Given the description of an element on the screen output the (x, y) to click on. 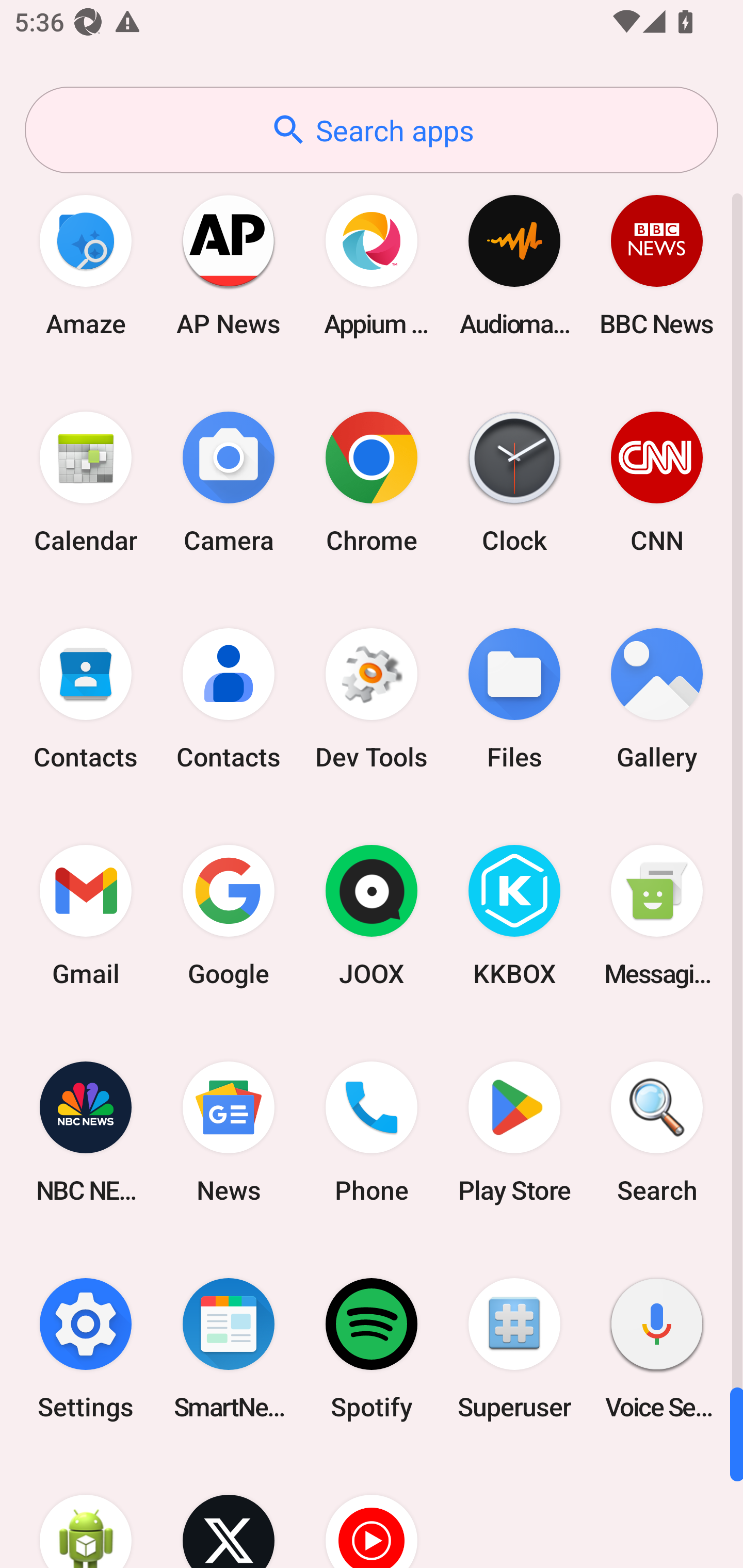
  Search apps (371, 130)
Amaze (85, 264)
AP News (228, 264)
Appium Settings (371, 264)
Audio­mack (514, 264)
BBC News (656, 264)
Calendar (85, 482)
Camera (228, 482)
Chrome (371, 482)
Clock (514, 482)
CNN (656, 482)
Contacts (85, 699)
Contacts (228, 699)
Dev Tools (371, 699)
Files (514, 699)
Gallery (656, 699)
Gmail (85, 915)
Google (228, 915)
JOOX (371, 915)
KKBOX (514, 915)
Messaging (656, 915)
NBC NEWS (85, 1131)
News (228, 1131)
Phone (371, 1131)
Play Store (514, 1131)
Search (656, 1131)
Settings (85, 1348)
SmartNews (228, 1348)
Spotify (371, 1348)
Superuser (514, 1348)
Voice Search (656, 1348)
WebView Browser Tester (85, 1512)
X (228, 1512)
YT Music (371, 1512)
